Given the description of an element on the screen output the (x, y) to click on. 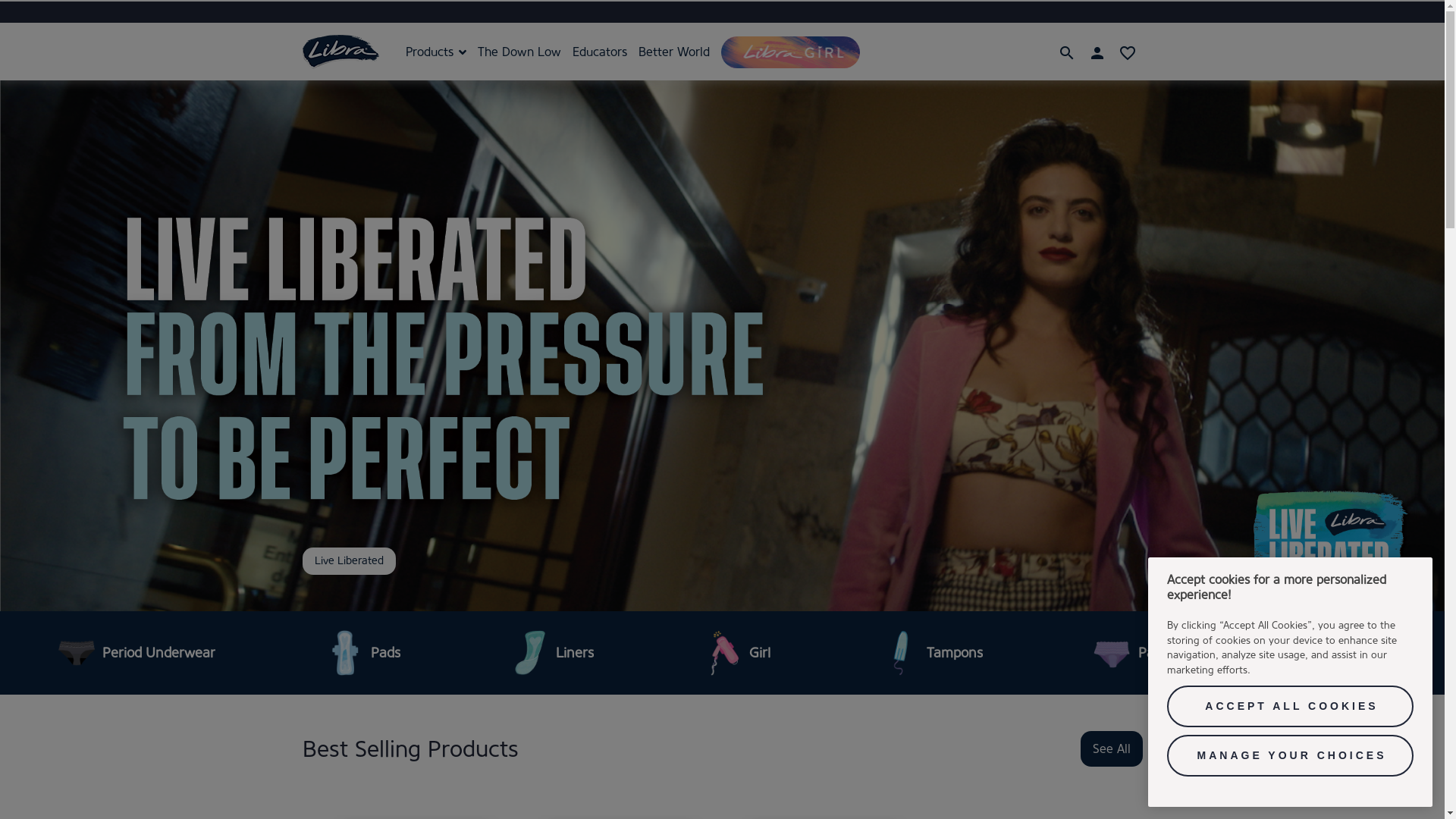
Liners Element type: text (550, 652)
favorite_border Element type: text (1126, 51)
Educators Element type: text (604, 52)
Live Liberated Element type: text (348, 560)
ACCEPT ALL COOKIES Element type: text (1290, 706)
Tampons Element type: text (929, 652)
Pants Element type: text (1130, 652)
Libra Girl Element type: text (789, 52)
Better World Element type: text (679, 52)
Maternity Element type: text (1335, 652)
Girl Element type: text (735, 652)
person Element type: text (1096, 51)
search Element type: text (1066, 51)
Pads Element type: text (360, 652)
The Down Low Element type: text (524, 52)
See All Element type: text (1110, 748)
person Element type: text (1096, 50)
Period Underwear Element type: text (134, 652)
MANAGE YOUR CHOICES Element type: text (1290, 755)
